Given the description of an element on the screen output the (x, y) to click on. 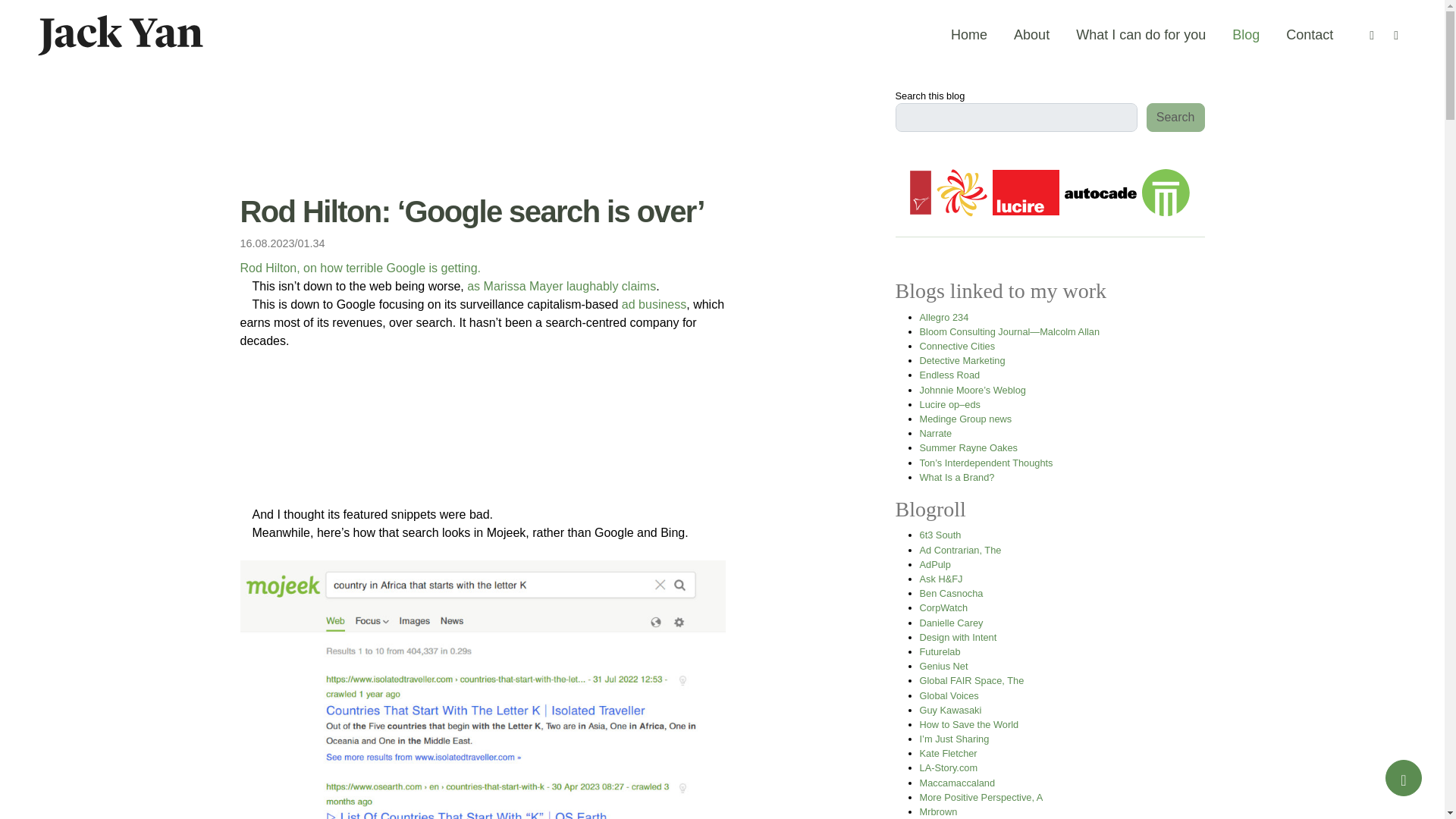
Ali Sabbagh with his musings and afterthoughts (940, 534)
What I can do for you (1140, 34)
Ton Zijlstra on knowledge work and management (986, 461)
as Marissa Mayer laughably claims (561, 286)
Press room for the international branding think-tank (965, 419)
Johnnie Moore on the worlds of marketing and faciliation (973, 389)
Rod Hilton, on how terrible Google is getting. (360, 267)
Tony Quinlan on narrative, complexity and communications  (936, 432)
Search (1176, 117)
Opinion and commentary on the advertising industry (935, 564)
